Given the description of an element on the screen output the (x, y) to click on. 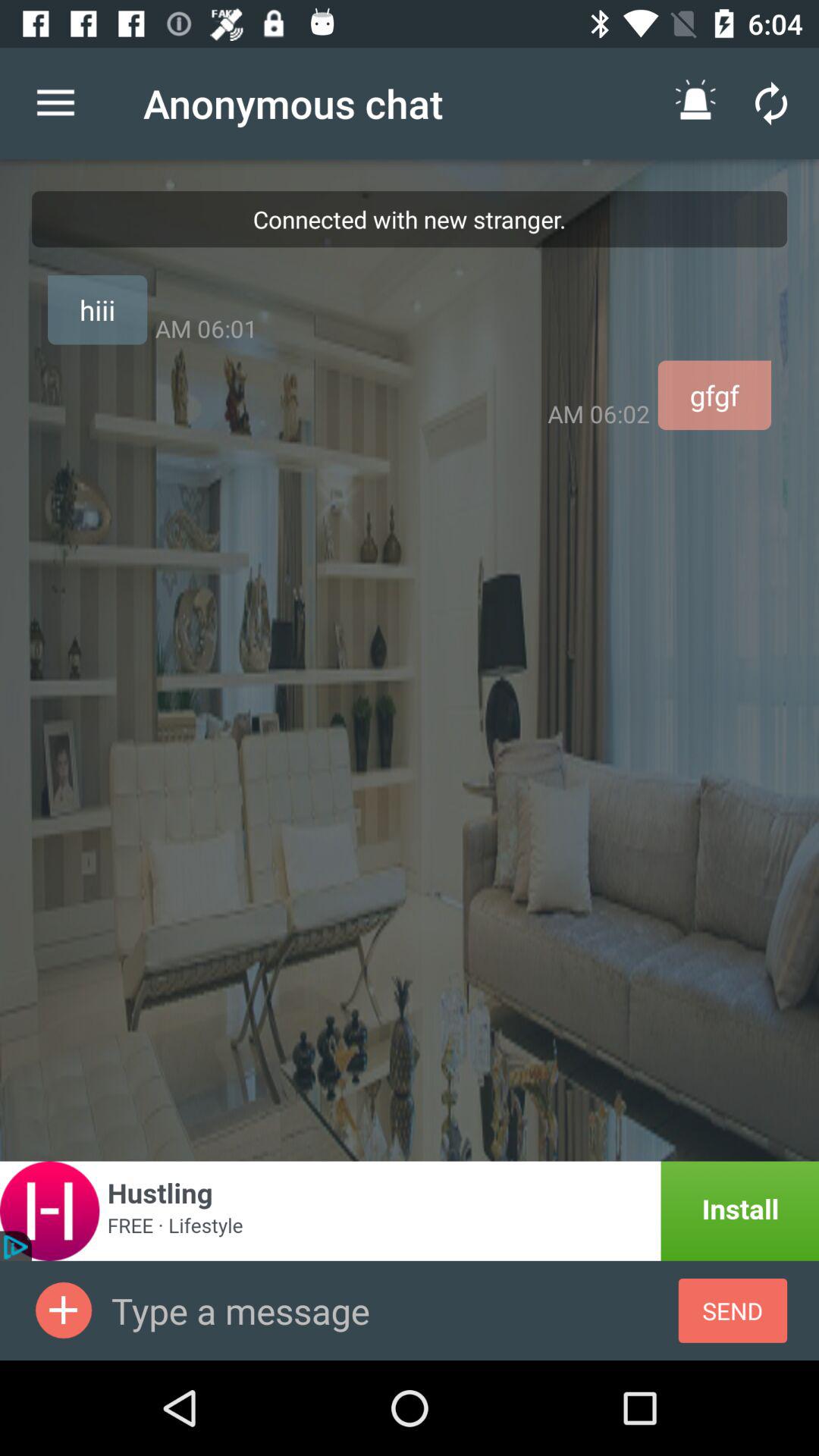
select contact to send message (63, 1310)
